Given the description of an element on the screen output the (x, y) to click on. 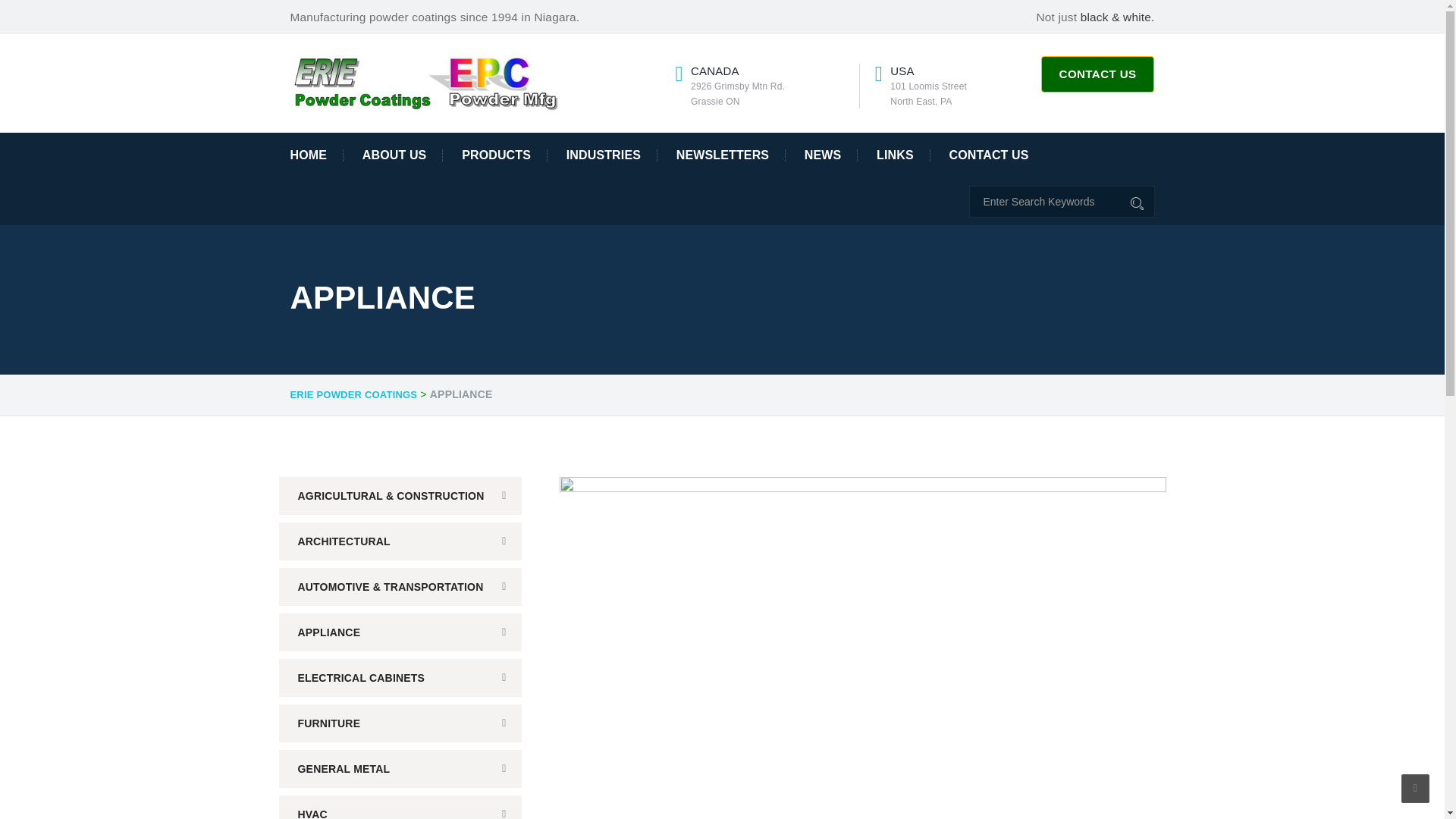
ARCHITECTURAL (400, 541)
FURNITURE (400, 723)
GENERAL METAL (400, 768)
APPLIANCE (400, 632)
PRODUCTS (496, 155)
NEWSLETTERS (723, 155)
CONTACT US (1097, 73)
ELECTRICAL CABINETS (400, 677)
Erie Powder Coatings (425, 81)
INDUSTRIES (604, 155)
NEWS (823, 155)
HOME (315, 155)
HVAC (400, 807)
ERIE POWDER COATINGS (352, 395)
ABOUT US (394, 155)
